Given the description of an element on the screen output the (x, y) to click on. 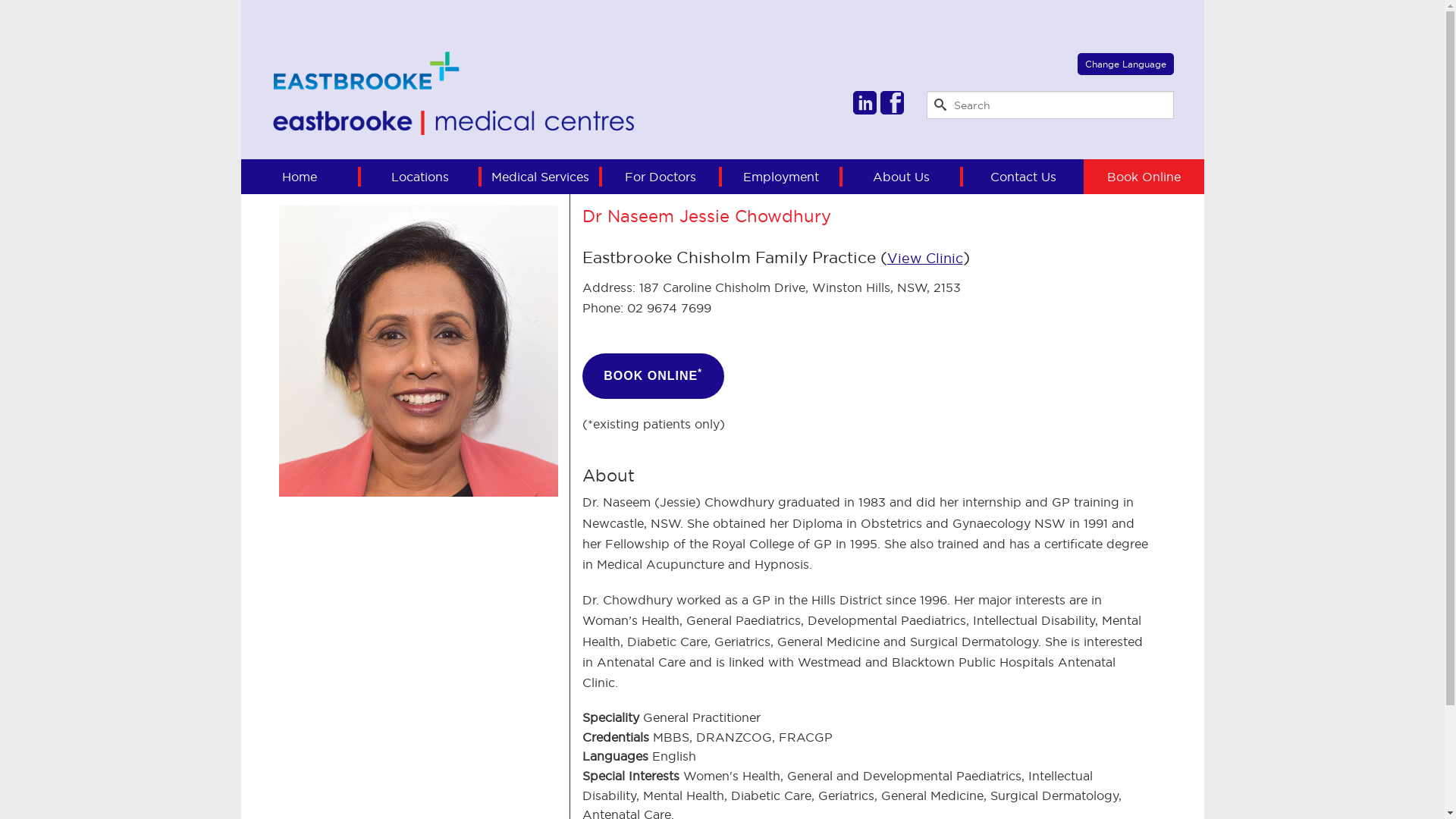
BOOK ONLINE* Element type: text (653, 375)
For Doctors Element type: text (662, 176)
Locations Element type: text (420, 176)
Contact Us Element type: text (1023, 176)
View Clinic Element type: text (925, 257)
Employment Element type: text (781, 176)
Home Element type: text (301, 176)
Book Online Element type: text (1143, 176)
Medical Services Element type: text (541, 176)
About Us Element type: text (902, 176)
